Given the description of an element on the screen output the (x, y) to click on. 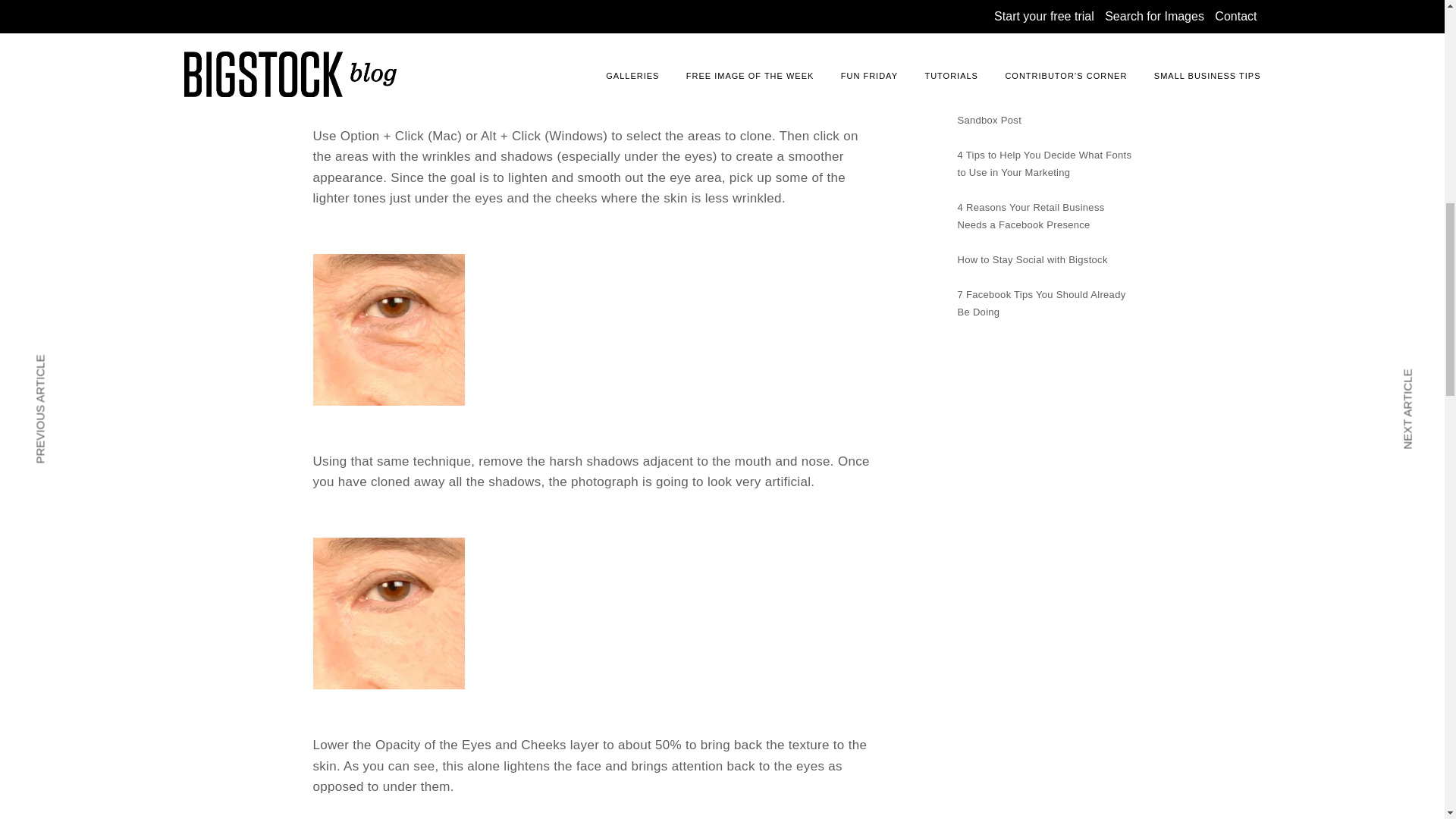
7 Facebook Tips You Should Already Be Doing (1040, 302)
clonestamp04 (388, 613)
How to Stay Social with Bigstock (1031, 259)
clonestamp03 (388, 329)
clonestamp02 (388, 40)
4 Reasons Your Retail Business Needs a Facebook Presence (1029, 215)
Sandbox Post (989, 120)
